Given the description of an element on the screen output the (x, y) to click on. 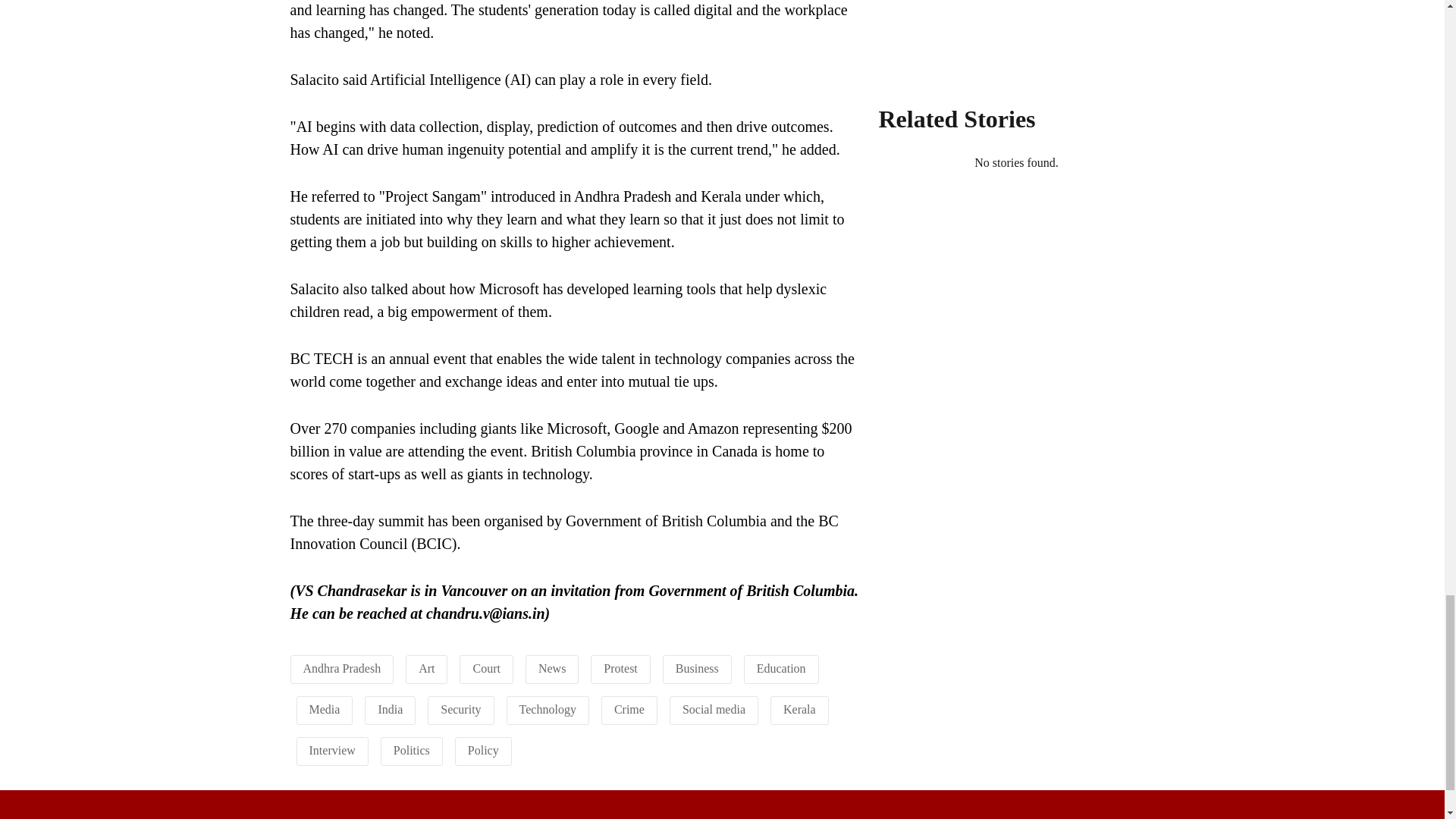
Social media (713, 708)
Politics (411, 749)
Court (485, 667)
Crime (629, 708)
Media (324, 708)
Technology (547, 708)
Policy (483, 749)
News (552, 667)
Andhra Pradesh (341, 667)
India (390, 708)
Art (426, 667)
Interview (331, 749)
Education (781, 667)
Protest (620, 667)
Kerala (799, 708)
